Given the description of an element on the screen output the (x, y) to click on. 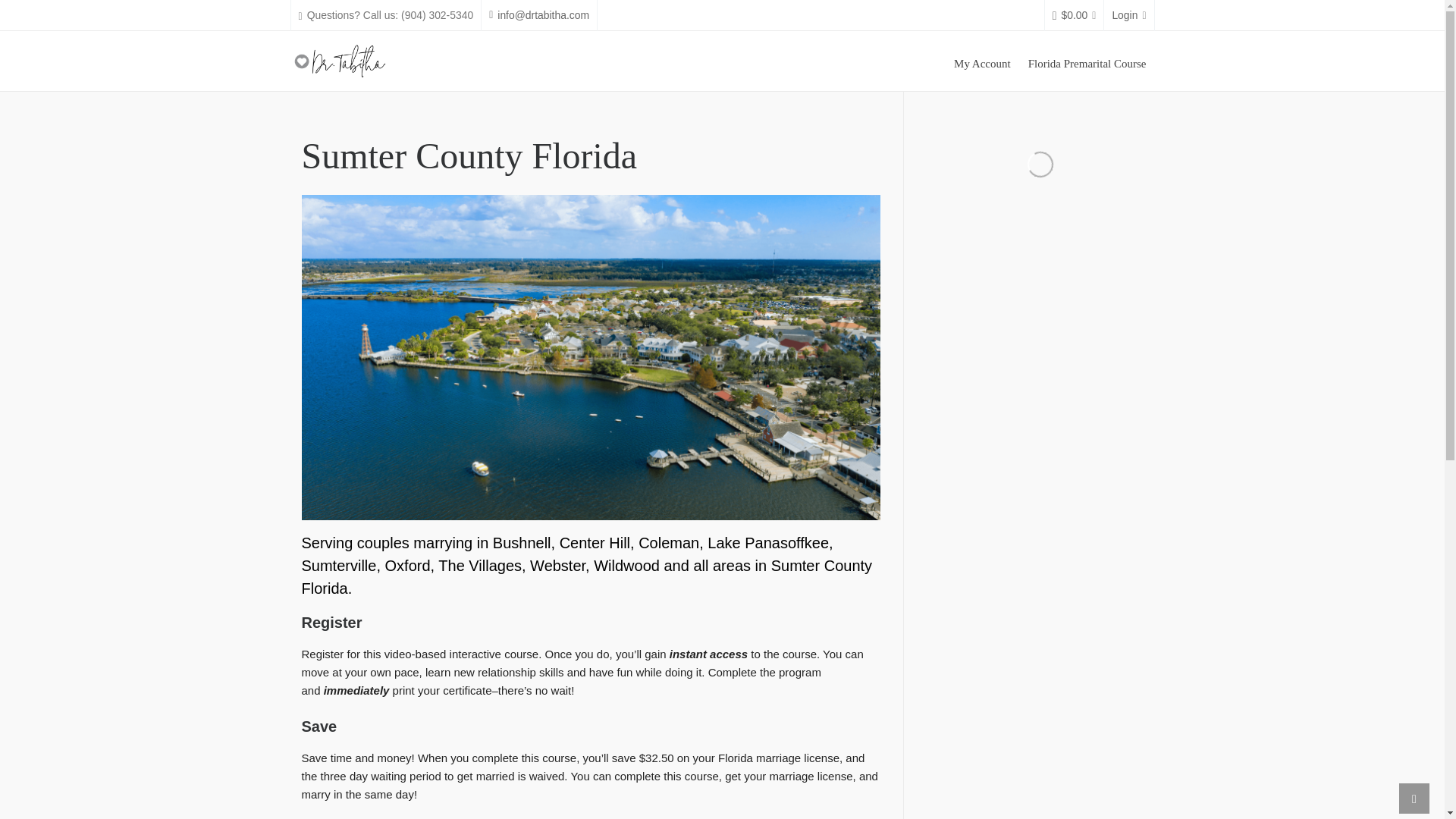
Login (1128, 14)
Florida Premarital Course (1087, 61)
My Account (981, 61)
